Given the description of an element on the screen output the (x, y) to click on. 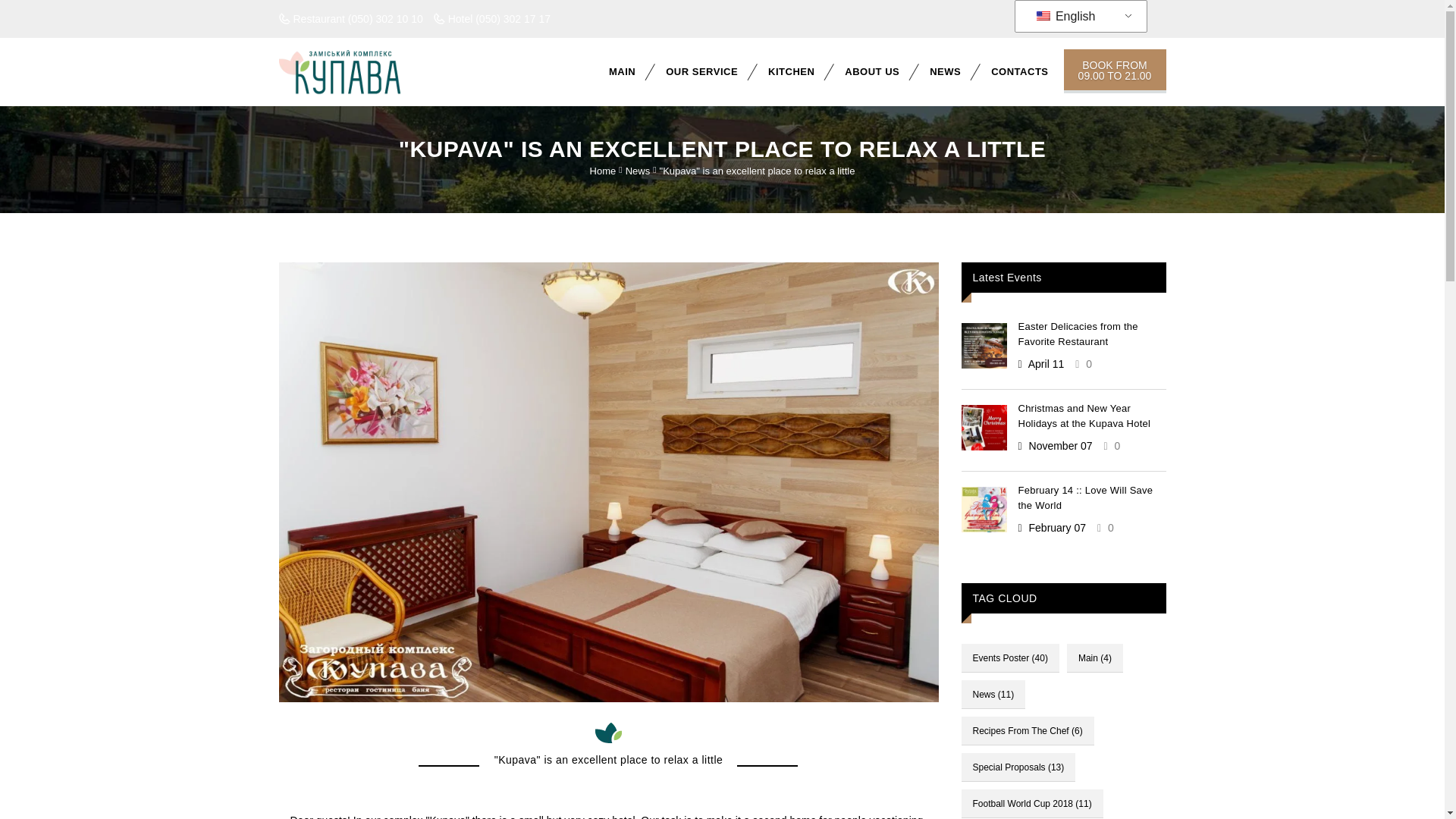
Country complex "Kupava". Kharkiv, village Yards (354, 71)
BOOK FROM 09.00 TO 21.00 (1114, 71)
English (1042, 15)
"Kupava" is an excellent place to relax a little (757, 170)
CONTACTS (1018, 71)
OUR SERVICE (701, 71)
News (638, 170)
Book now (1114, 71)
English (1078, 16)
KITCHEN (790, 71)
Home (602, 170)
ABOUT US (871, 71)
Country complex "Kupava". Kharkiv, village Yards (339, 71)
English (1078, 16)
NEWS (944, 71)
